Given the description of an element on the screen output the (x, y) to click on. 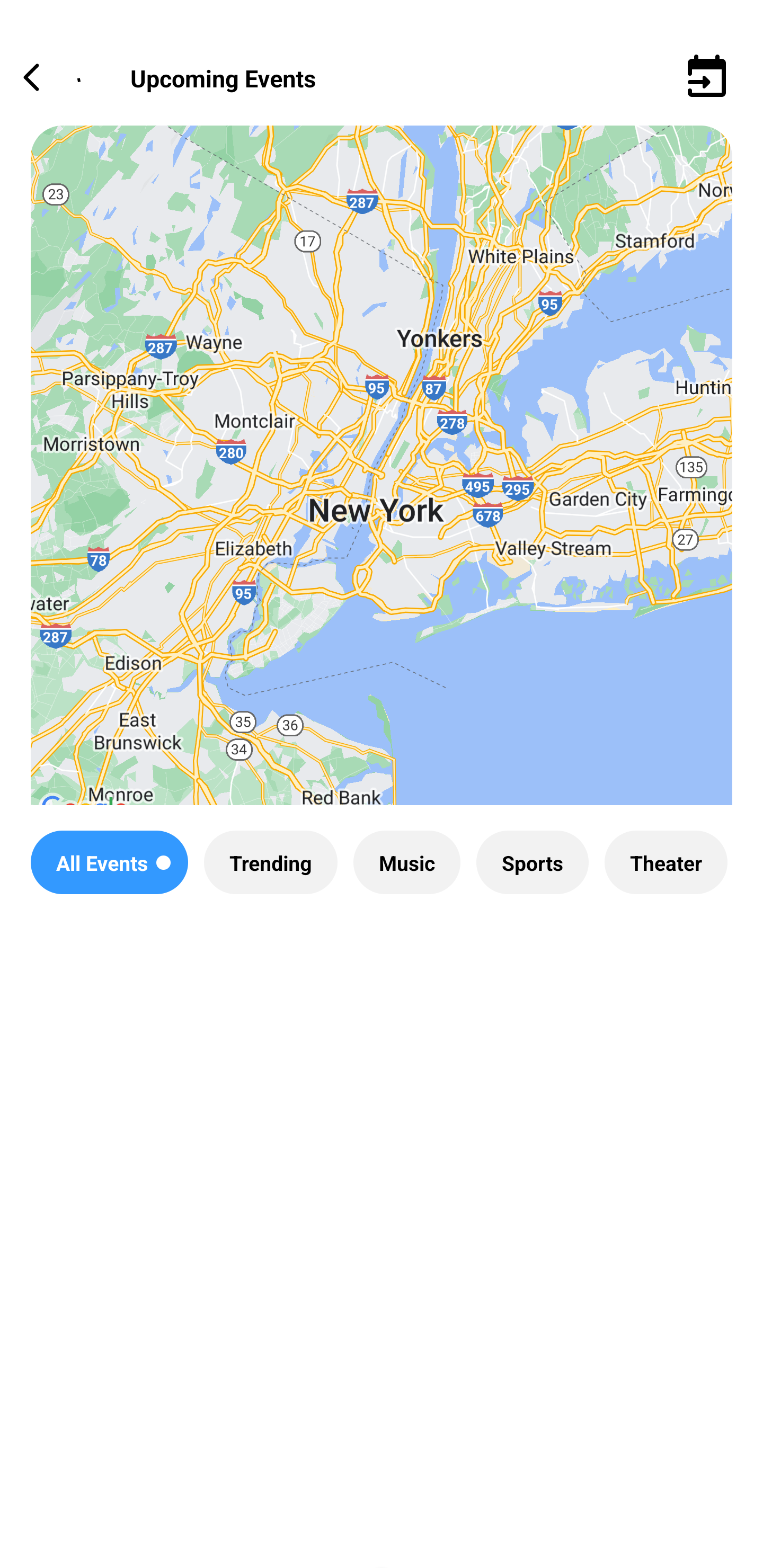
Google Map (381, 480)
All Events (109, 862)
Trending (270, 862)
Music (406, 862)
Sports (532, 862)
Theater (665, 862)
